Given the description of an element on the screen output the (x, y) to click on. 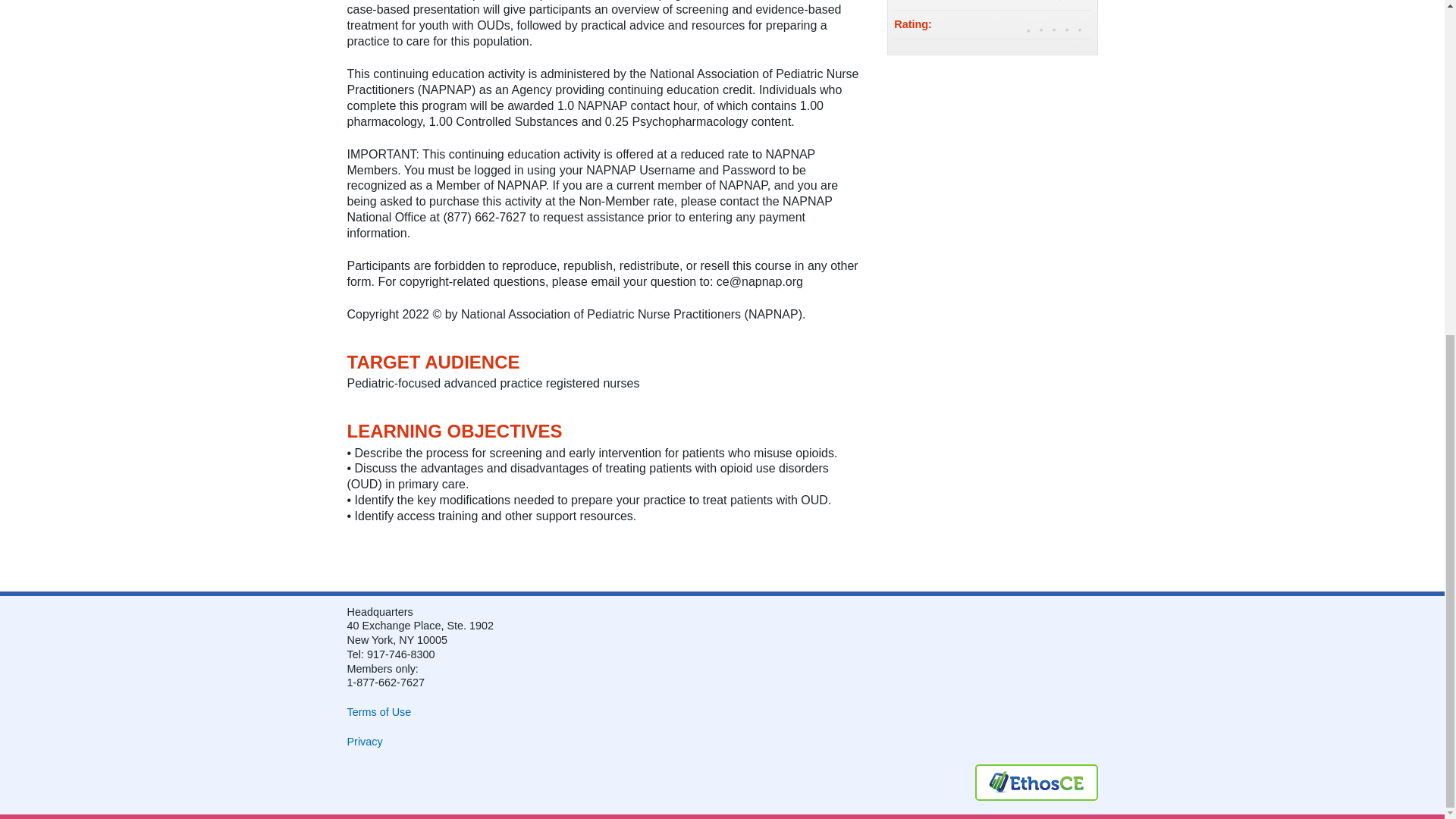
Privacy (364, 741)
Terms of Use (379, 711)
